Given the description of an element on the screen output the (x, y) to click on. 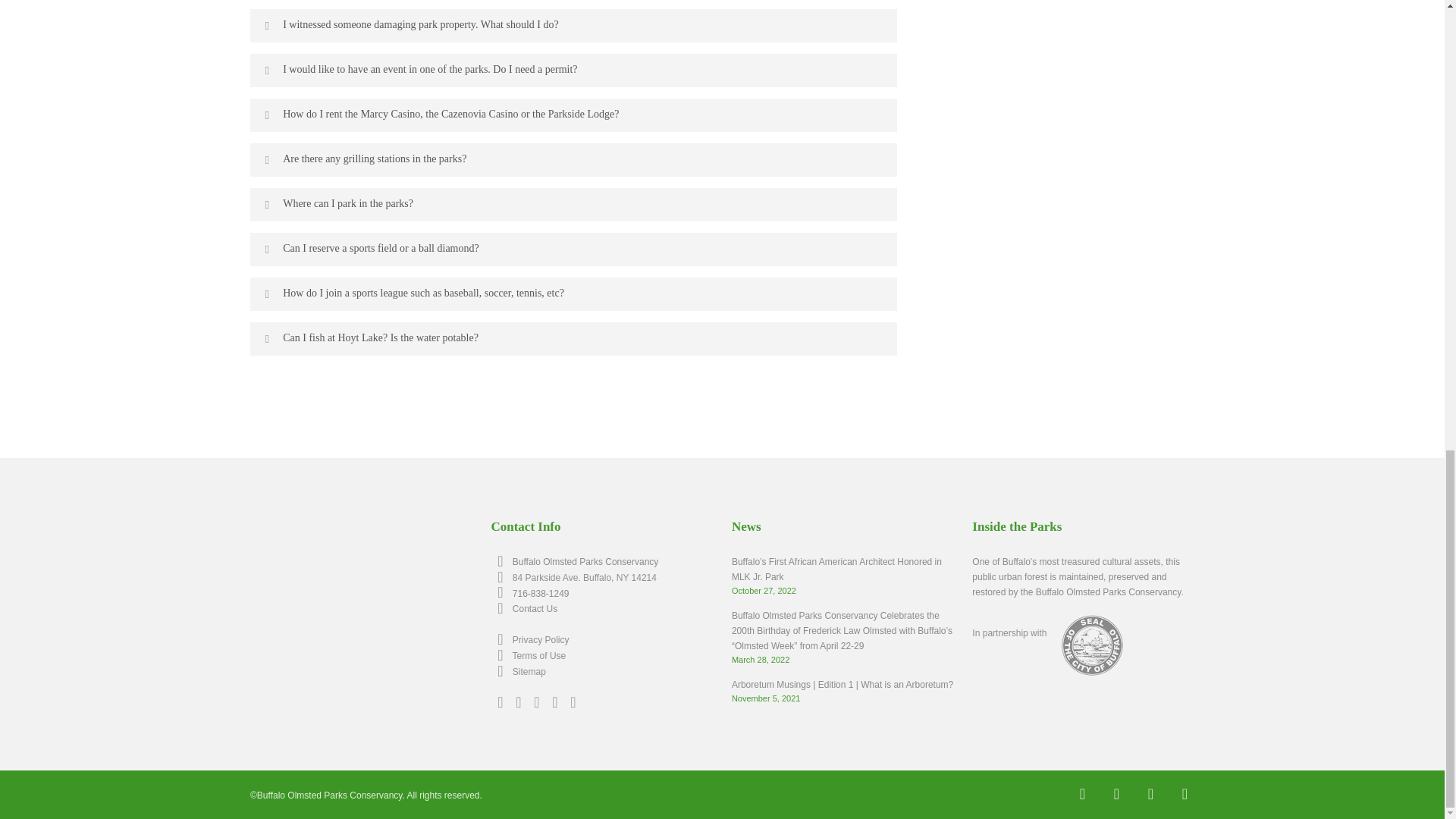
Where can I park in the parks? (573, 204)
Are there any grilling stations in the parks? (573, 159)
